Given the description of an element on the screen output the (x, y) to click on. 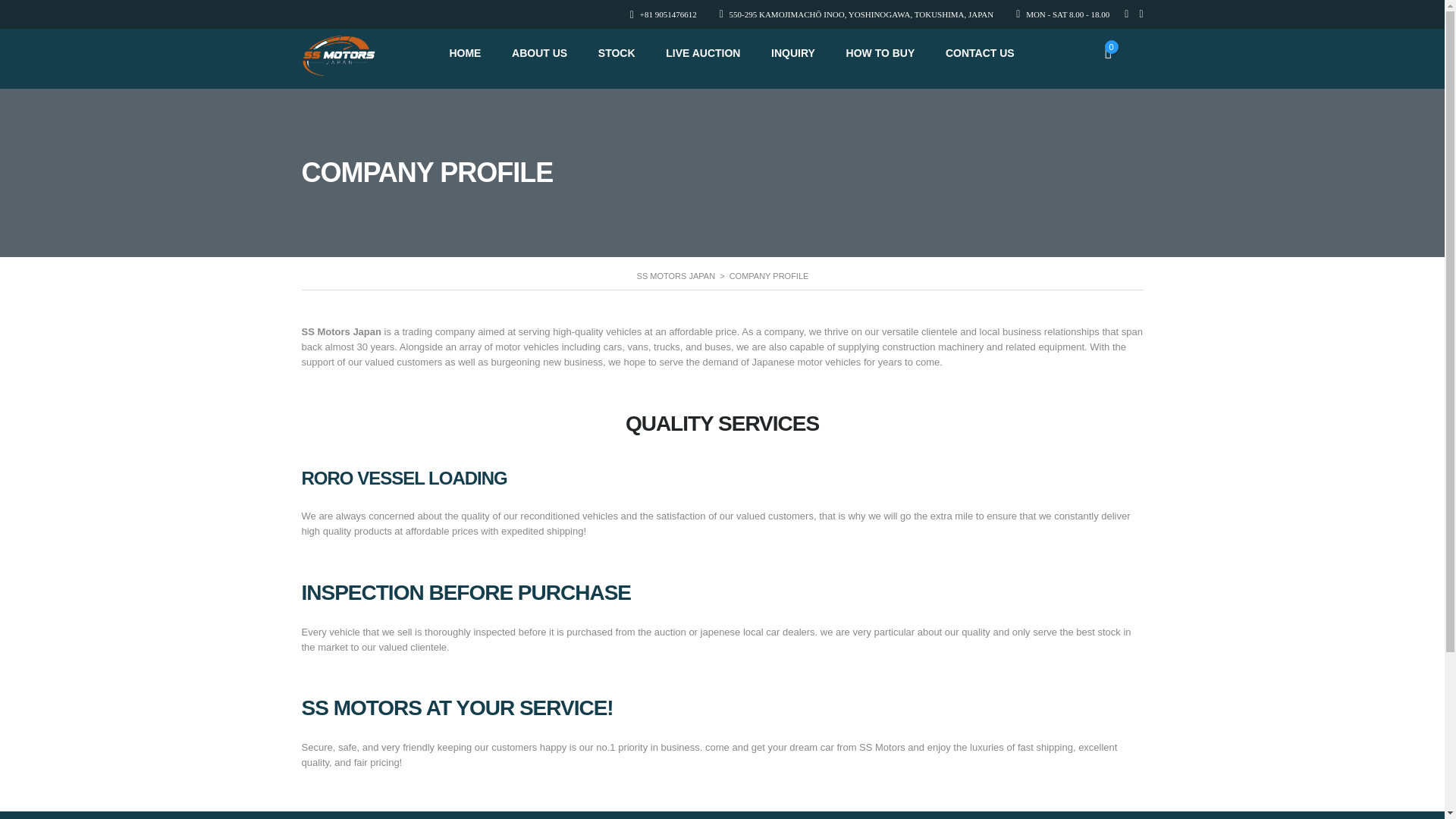
LIVE AUCTION (702, 52)
SS MOTORS JAPAN (676, 275)
CONTACT US (979, 52)
Home (339, 54)
STOCK (616, 52)
INQUIRY (793, 52)
HOW TO BUY (880, 52)
Go to SS Motors Japan. (676, 275)
HOME (464, 52)
ABOUT US (539, 52)
